Given the description of an element on the screen output the (x, y) to click on. 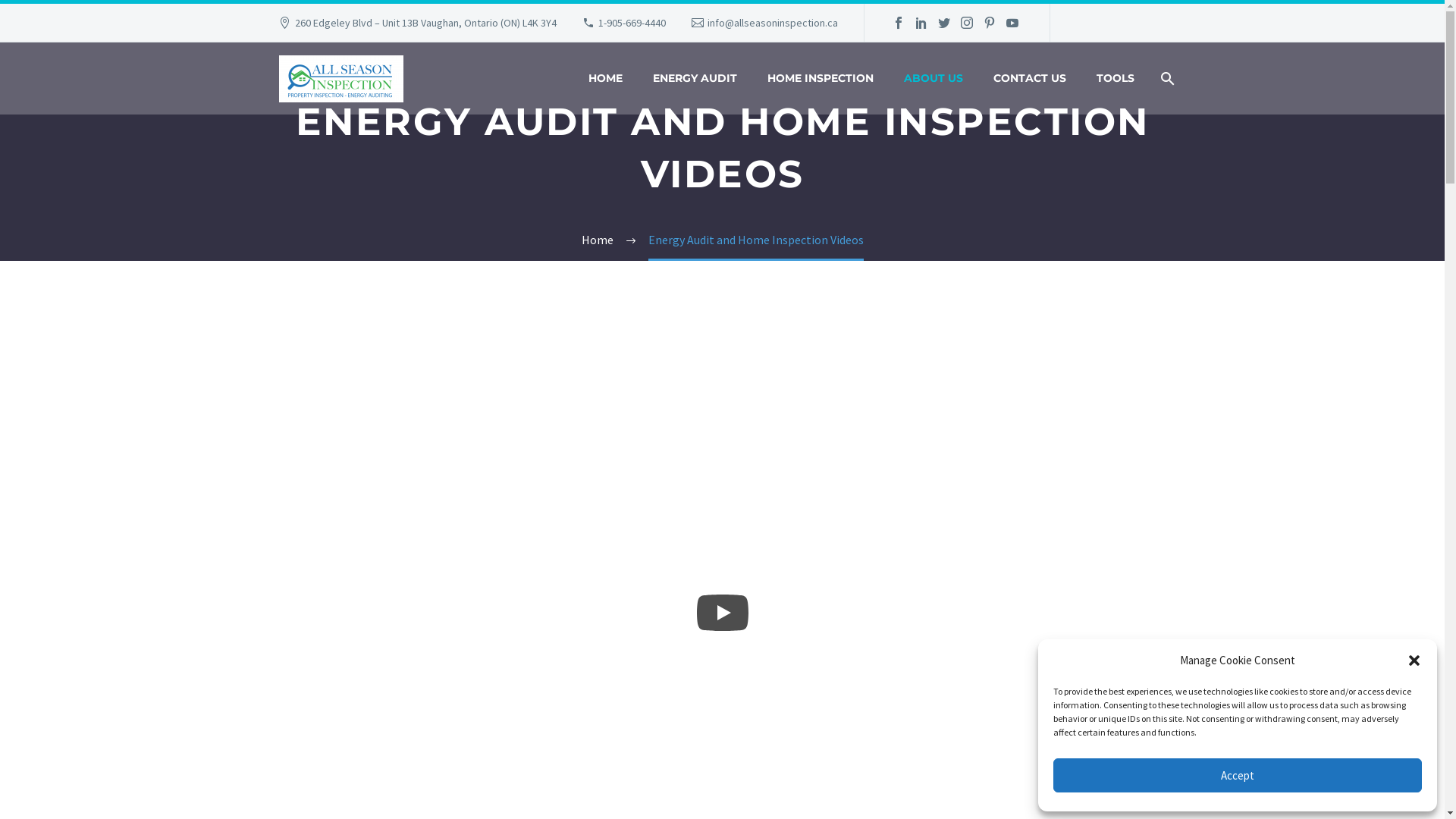
Twitter Element type: hover (943, 22)
Instagram Element type: hover (966, 22)
info@allseasoninspection.ca Element type: text (772, 22)
HOME INSPECTION Element type: text (820, 78)
LinkedIn Element type: hover (921, 22)
Facebook Element type: hover (898, 22)
YouTube Element type: hover (1012, 22)
HOME Element type: text (605, 78)
Accept Element type: text (1237, 775)
ABOUT US Element type: text (933, 78)
TOOLS Element type: text (1115, 78)
Pinterest Element type: hover (989, 22)
ENERGY AUDIT Element type: text (694, 78)
CONTACT US Element type: text (1029, 78)
Home Element type: text (596, 239)
1-905-669-4440 Element type: text (631, 22)
